Given the description of an element on the screen output the (x, y) to click on. 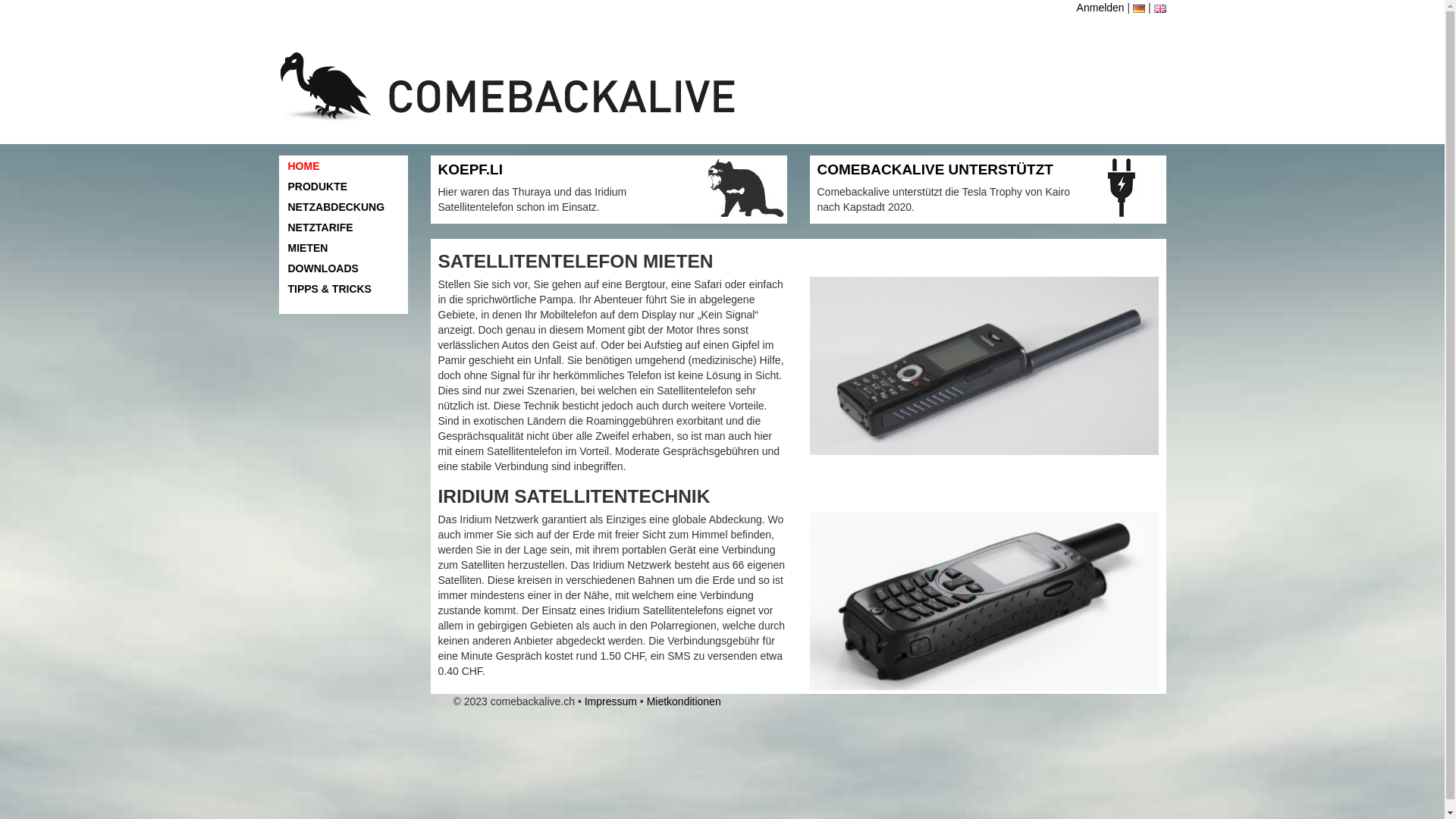
HOME Element type: text (343, 165)
Mietkonditionen Element type: text (683, 701)
NETZABDECKUNG Element type: text (343, 206)
Deutsch Element type: hover (1138, 8)
Anmelden Element type: text (1100, 7)
PRODUKTE Element type: text (343, 186)
Impressum Element type: text (610, 701)
NETZTARIFE Element type: text (343, 227)
DOWNLOADS Element type: text (343, 268)
KOEPF.LI Element type: text (470, 169)
MIETEN Element type: text (343, 247)
English Element type: hover (1160, 8)
TIPPS & TRICKS Element type: text (343, 288)
